Given the description of an element on the screen output the (x, y) to click on. 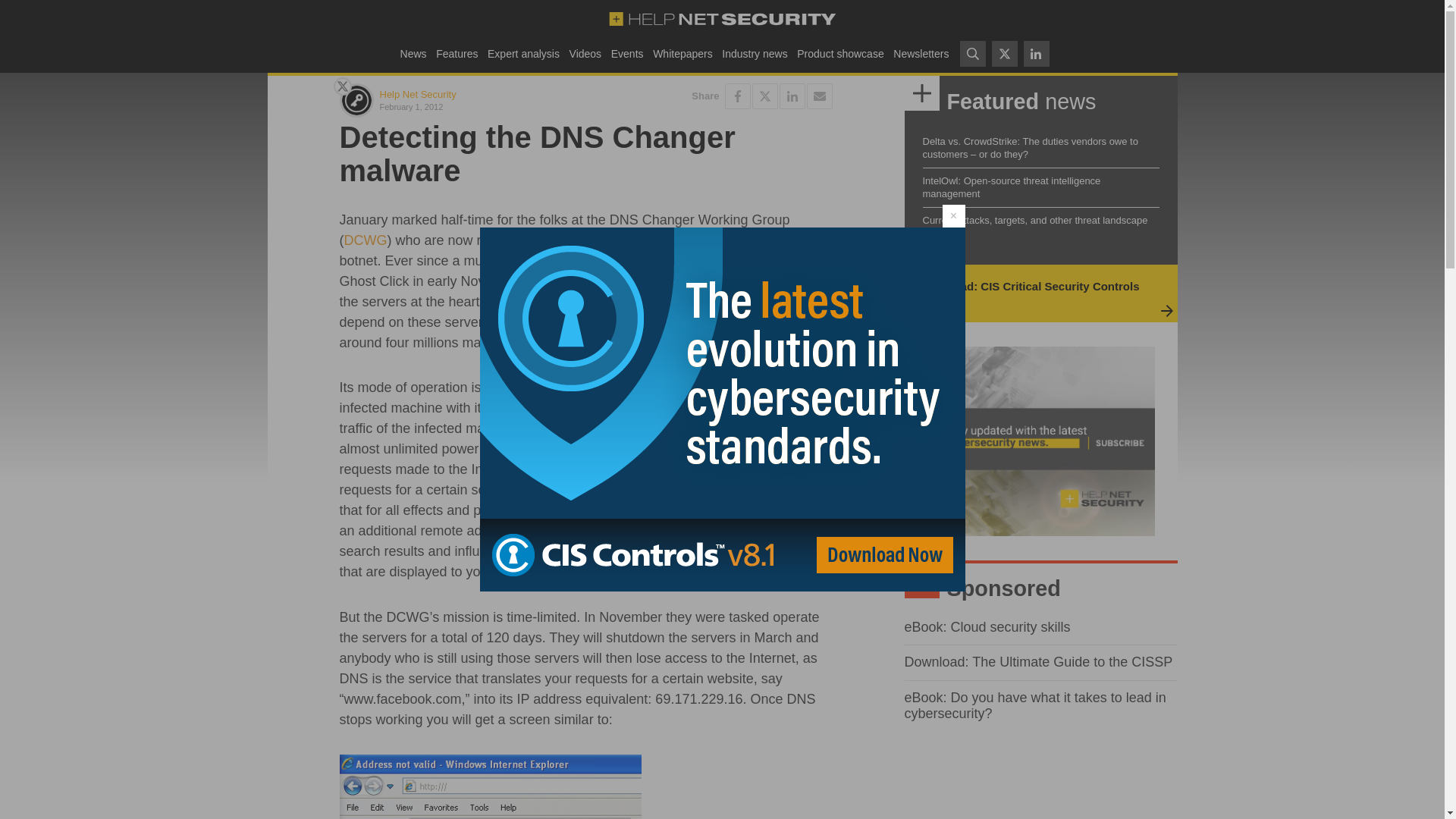
Share Detecting the DNS Changer malware via E-mail (819, 95)
Download: CIS Critical Security Controls v8.1 (1028, 293)
Share Detecting the DNS Changer malware on LinkedIn (791, 95)
IntelOwl: Open-source threat intelligence management (1010, 187)
Features (456, 53)
Help Net Security (416, 93)
Industry news (754, 53)
eBook: Do you have what it takes to lead in cybersecurity? (1035, 705)
Share Detecting the DNS Changer malware on Twitter (764, 95)
